Given the description of an element on the screen output the (x, y) to click on. 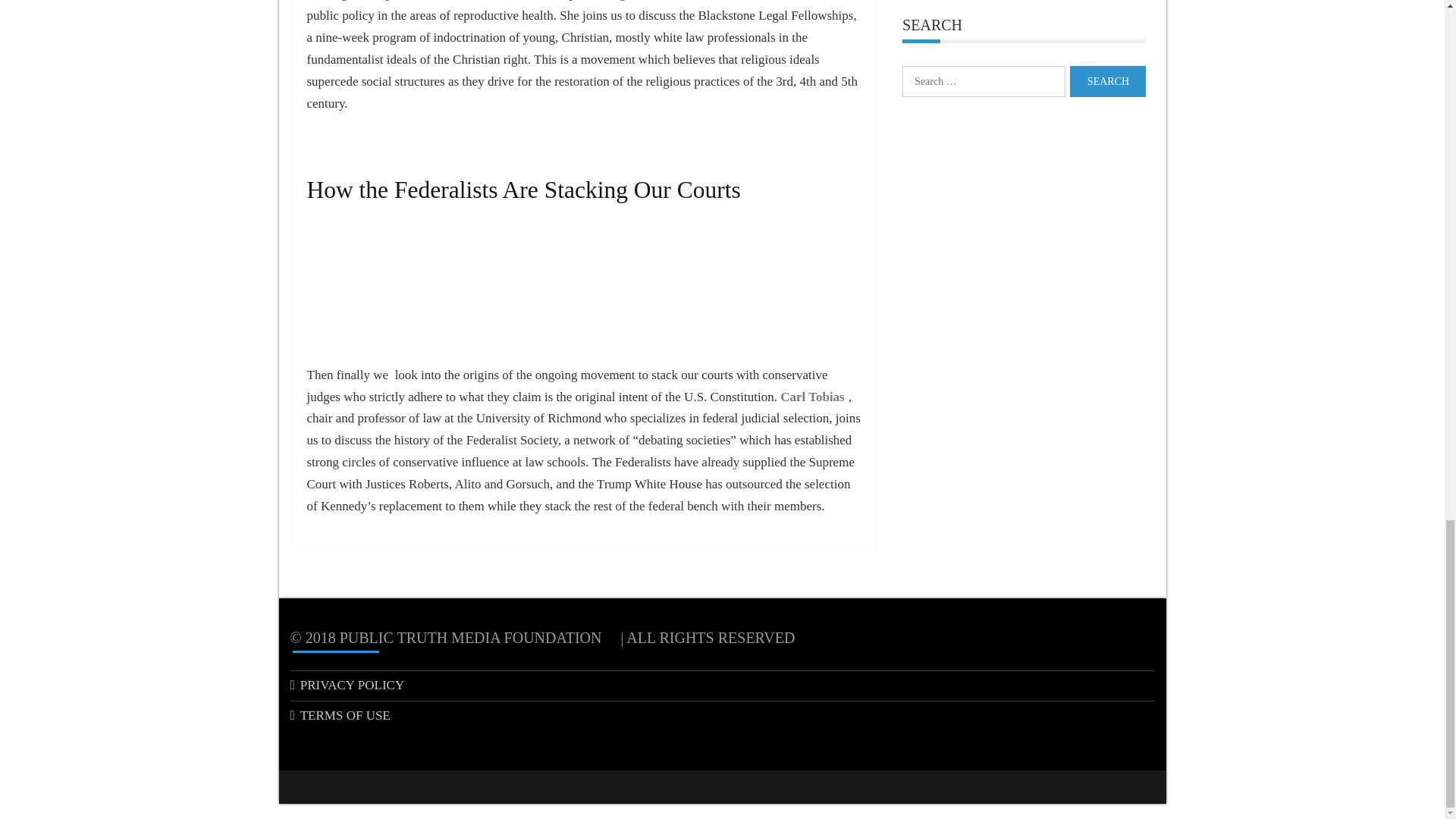
Search (1107, 81)
Carl Tobias (812, 396)
Search (1107, 81)
